Given the description of an element on the screen output the (x, y) to click on. 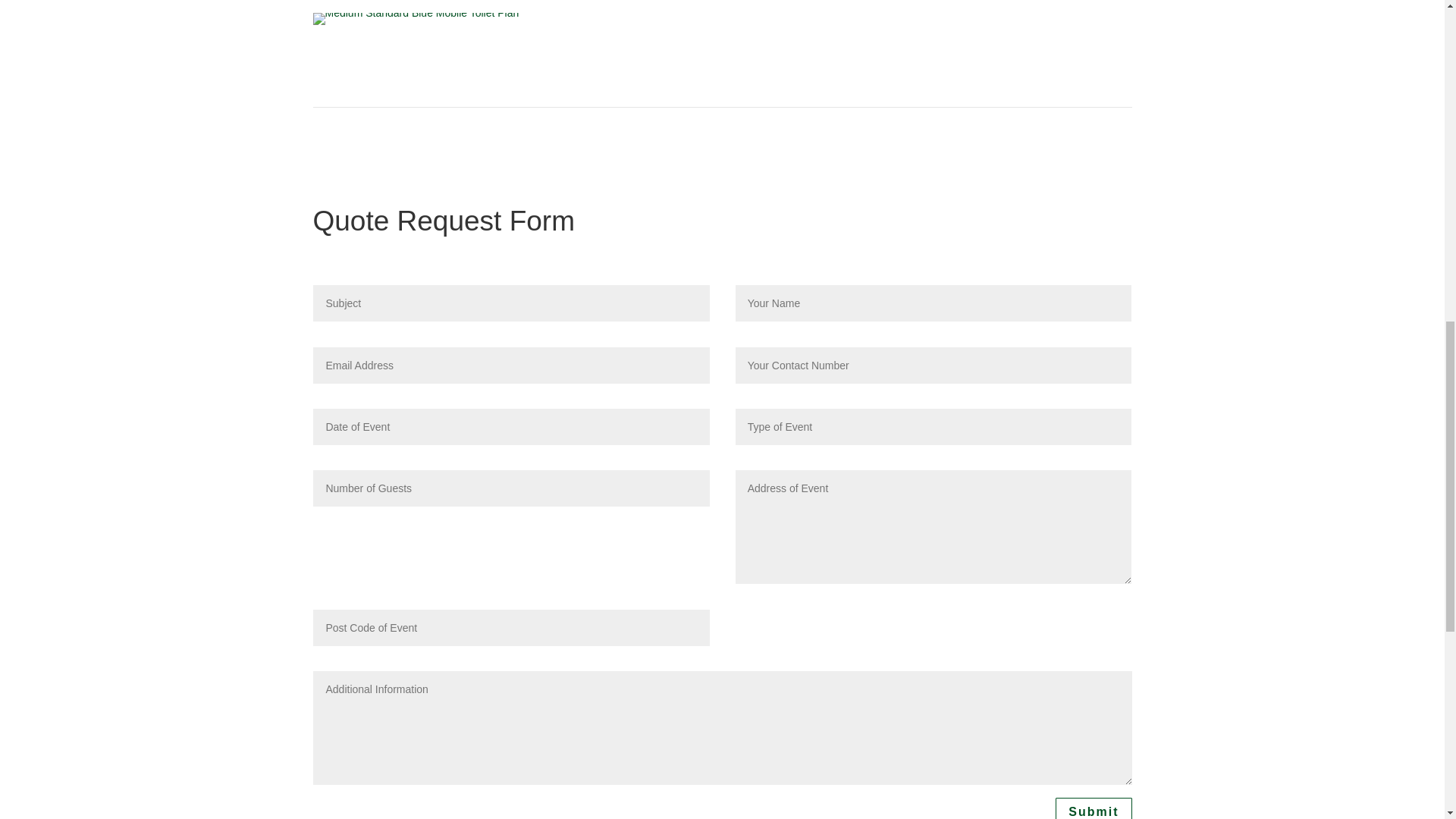
Medium Standard Blue Mobile Toilet Plan (415, 12)
Submit (1093, 808)
Medium Standard Blue Mobile Toilet Plan (415, 19)
